Given the description of an element on the screen output the (x, y) to click on. 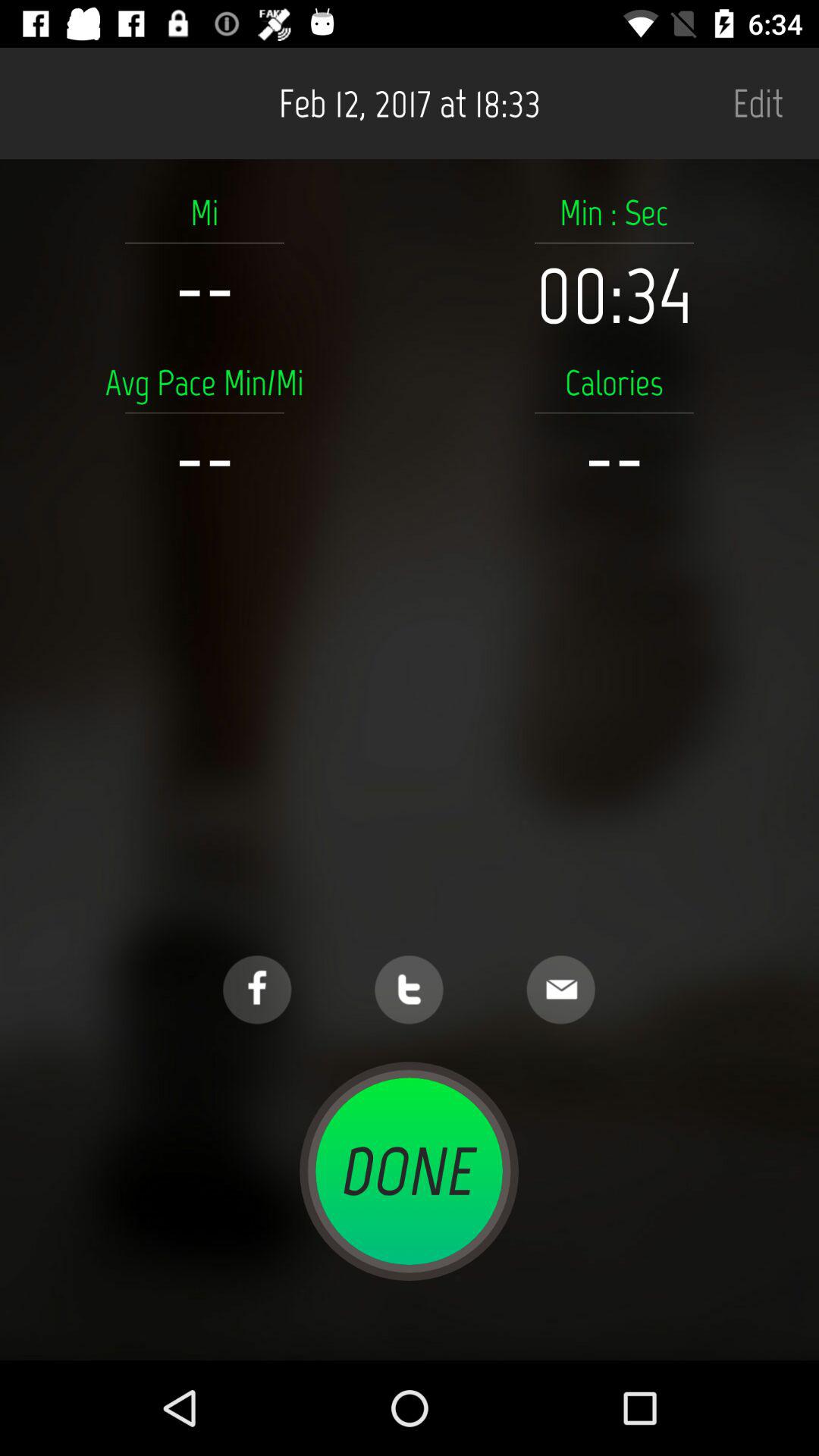
to go twitter (409, 989)
